Given the description of an element on the screen output the (x, y) to click on. 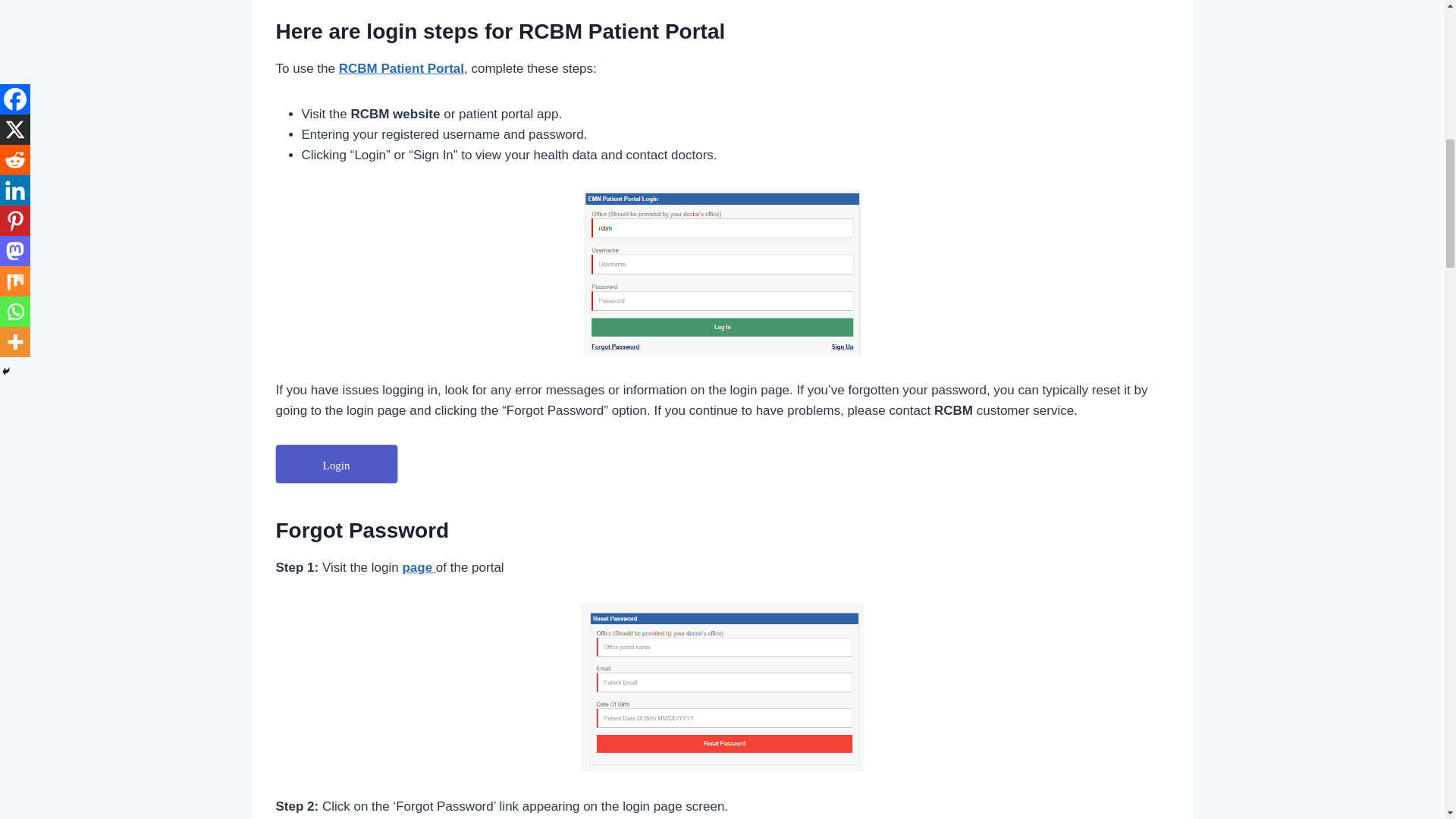
Login (336, 464)
Login (336, 464)
RCBM Patient Portal (401, 68)
page  (418, 567)
